Given the description of an element on the screen output the (x, y) to click on. 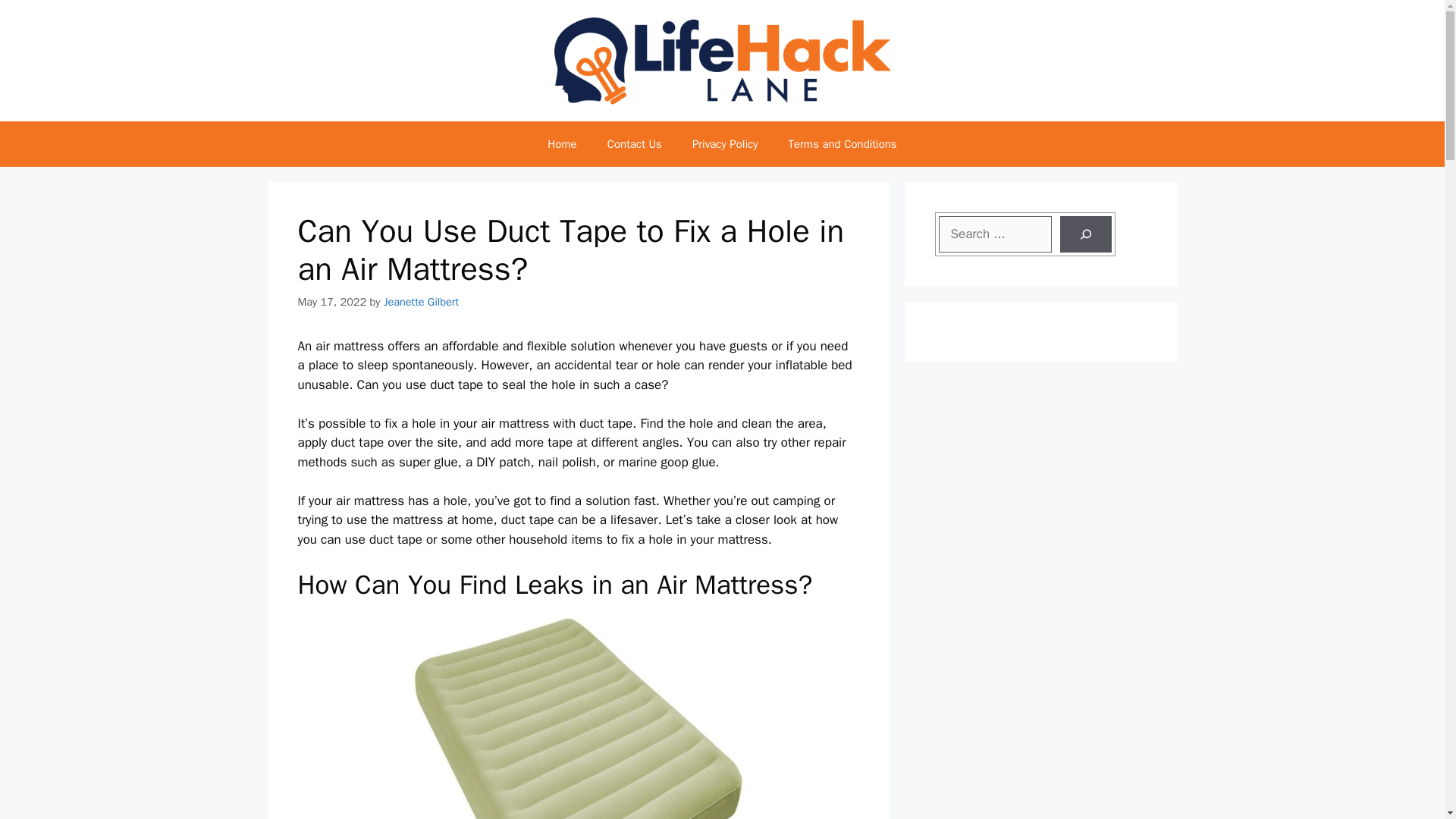
Contact Us (634, 144)
Privacy Policy (725, 144)
Terms and Conditions (842, 144)
View all posts by Jeanette Gilbert (421, 301)
Jeanette Gilbert (421, 301)
Home (561, 144)
